Given the description of an element on the screen output the (x, y) to click on. 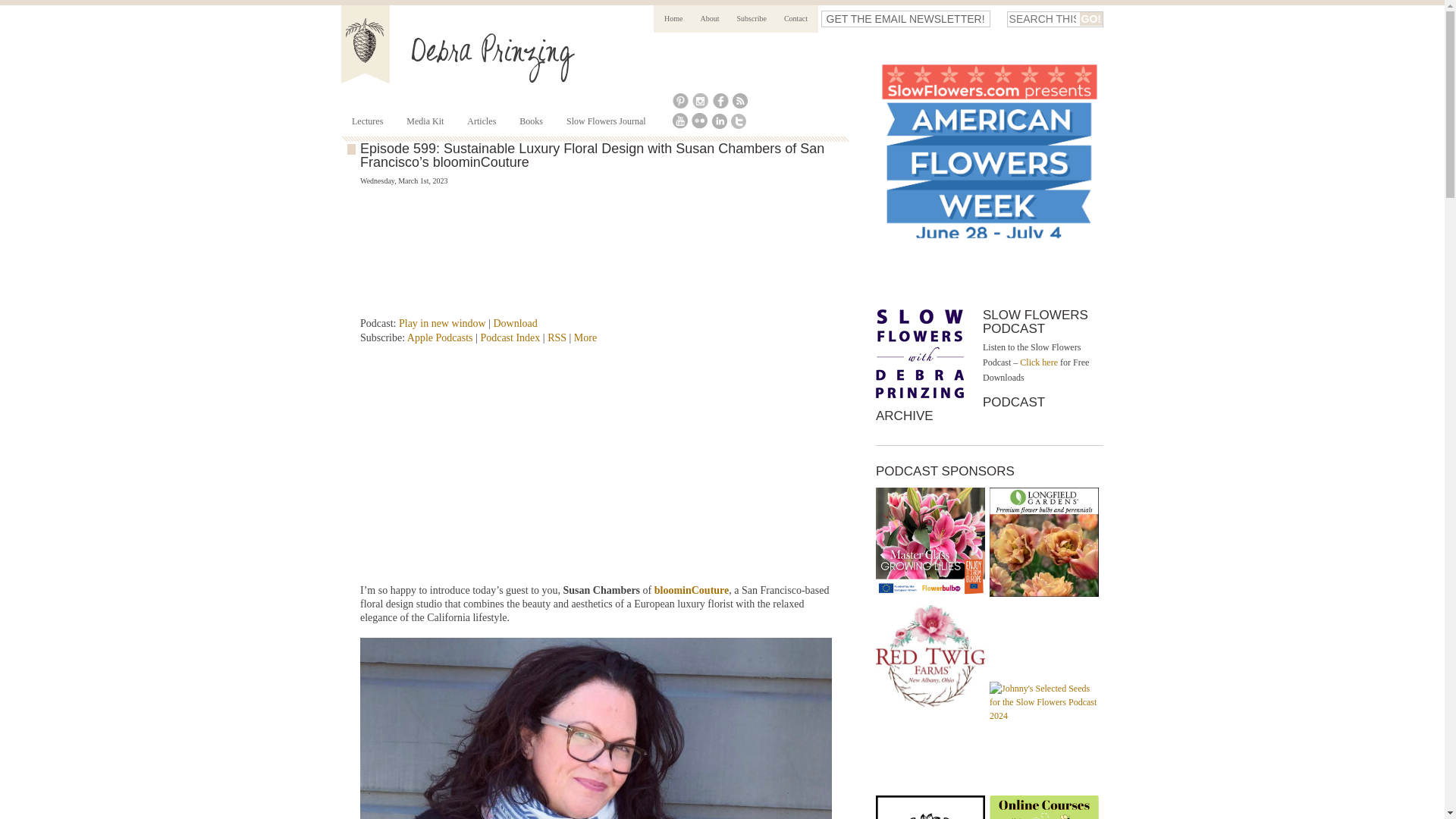
Slow Flowers Journal (605, 120)
Slow Flowers Show Episode 599V (549, 463)
Subscribe via RSS (556, 337)
Articles (481, 120)
Home (673, 18)
More (584, 337)
Media Kit (424, 120)
Podcast Index (510, 337)
Download (515, 323)
RSS (556, 337)
